Given the description of an element on the screen output the (x, y) to click on. 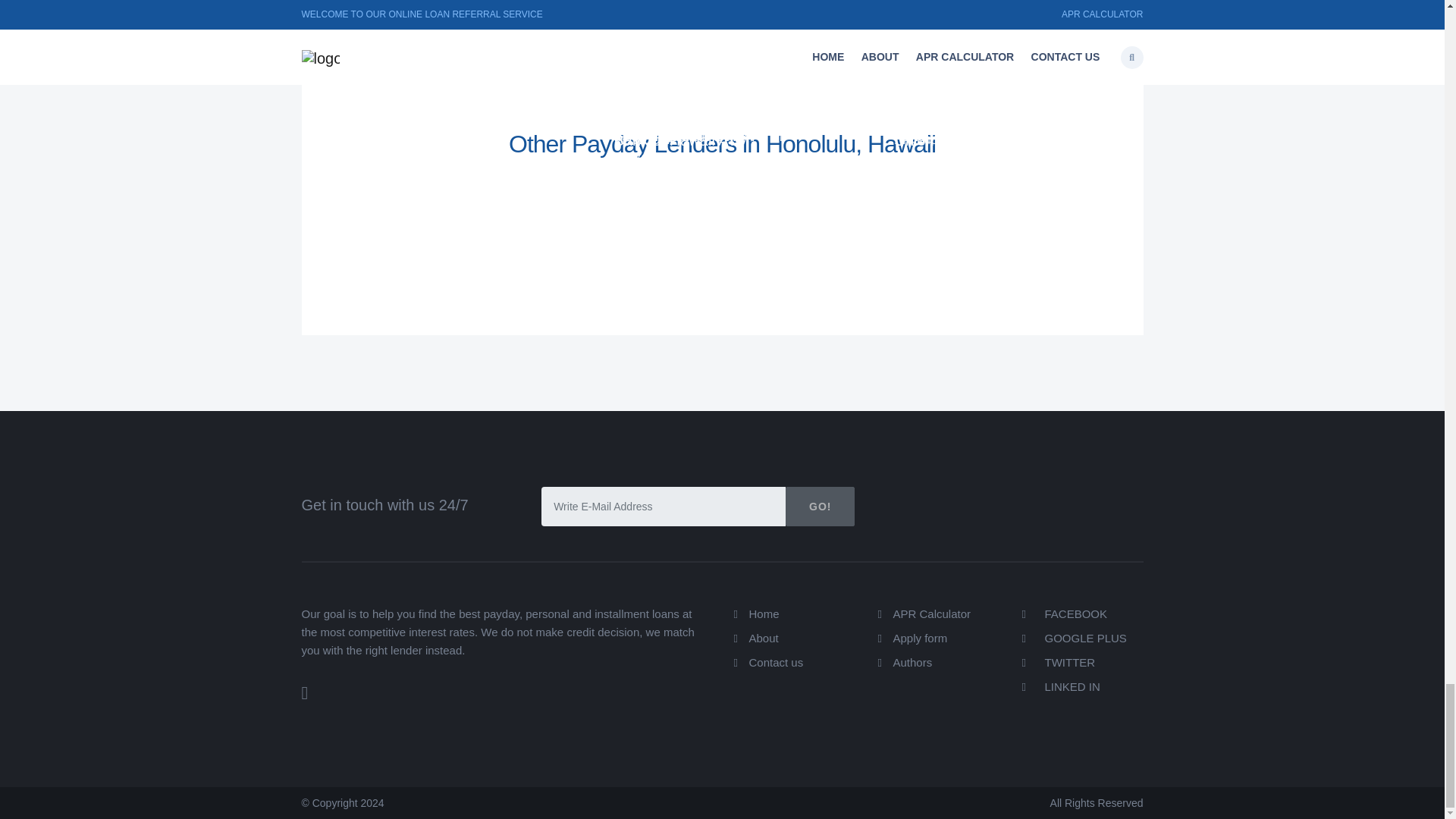
Home (763, 613)
FACEBOOK (1065, 613)
HomeStreet Bank (392, 139)
GO! (820, 506)
Bank of Hawaii ATM (400, 94)
American Savings Bank (693, 94)
Apply form (920, 637)
GOOGLE PLUS (1074, 637)
TWITTER (1059, 662)
First Hawaiian Bank ATM (697, 135)
